Given the description of an element on the screen output the (x, y) to click on. 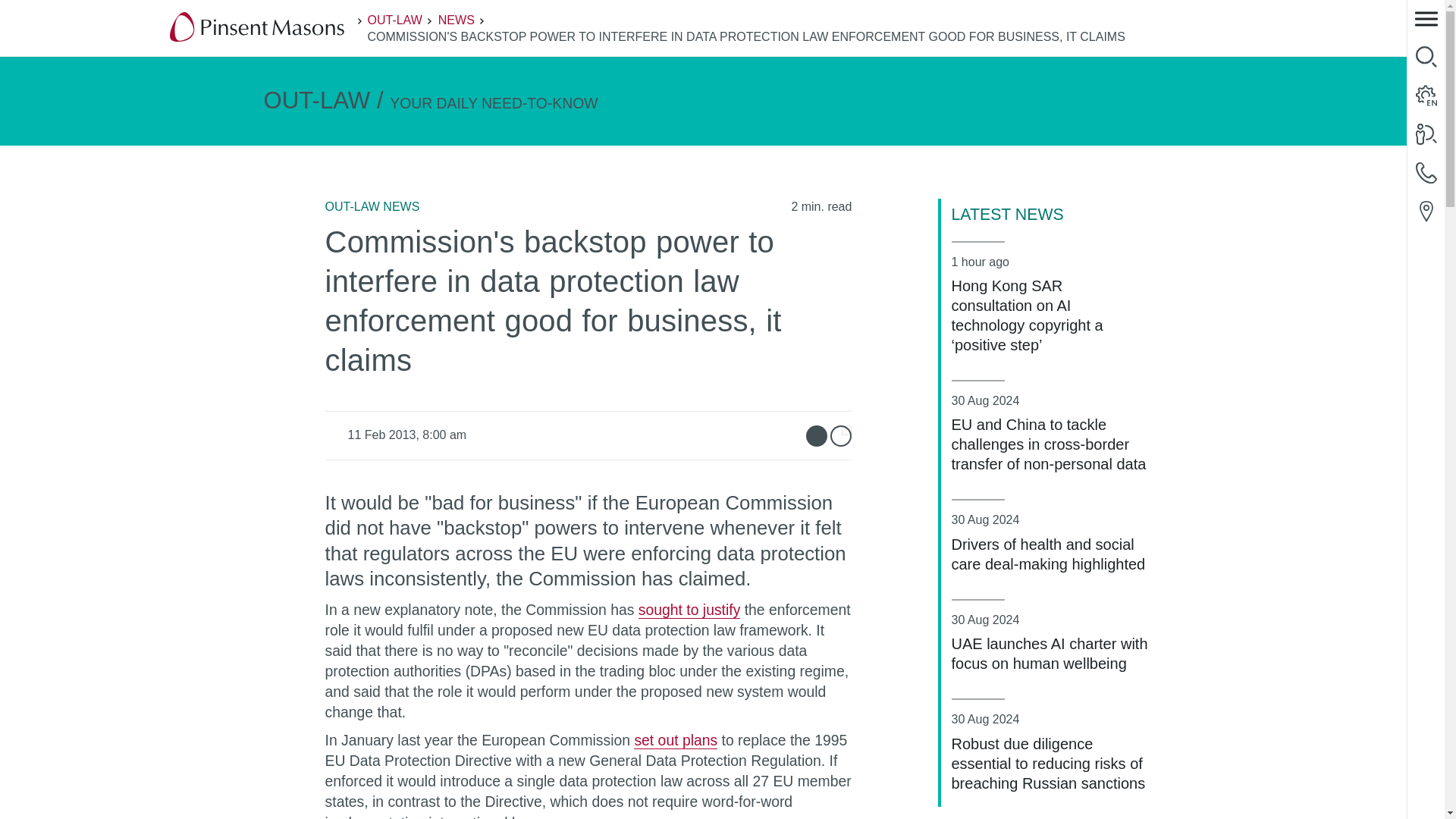
NEWS (456, 20)
Email (816, 435)
on (846, 429)
OUT-LAW (394, 20)
Pinsent Masons (257, 28)
